Given the description of an element on the screen output the (x, y) to click on. 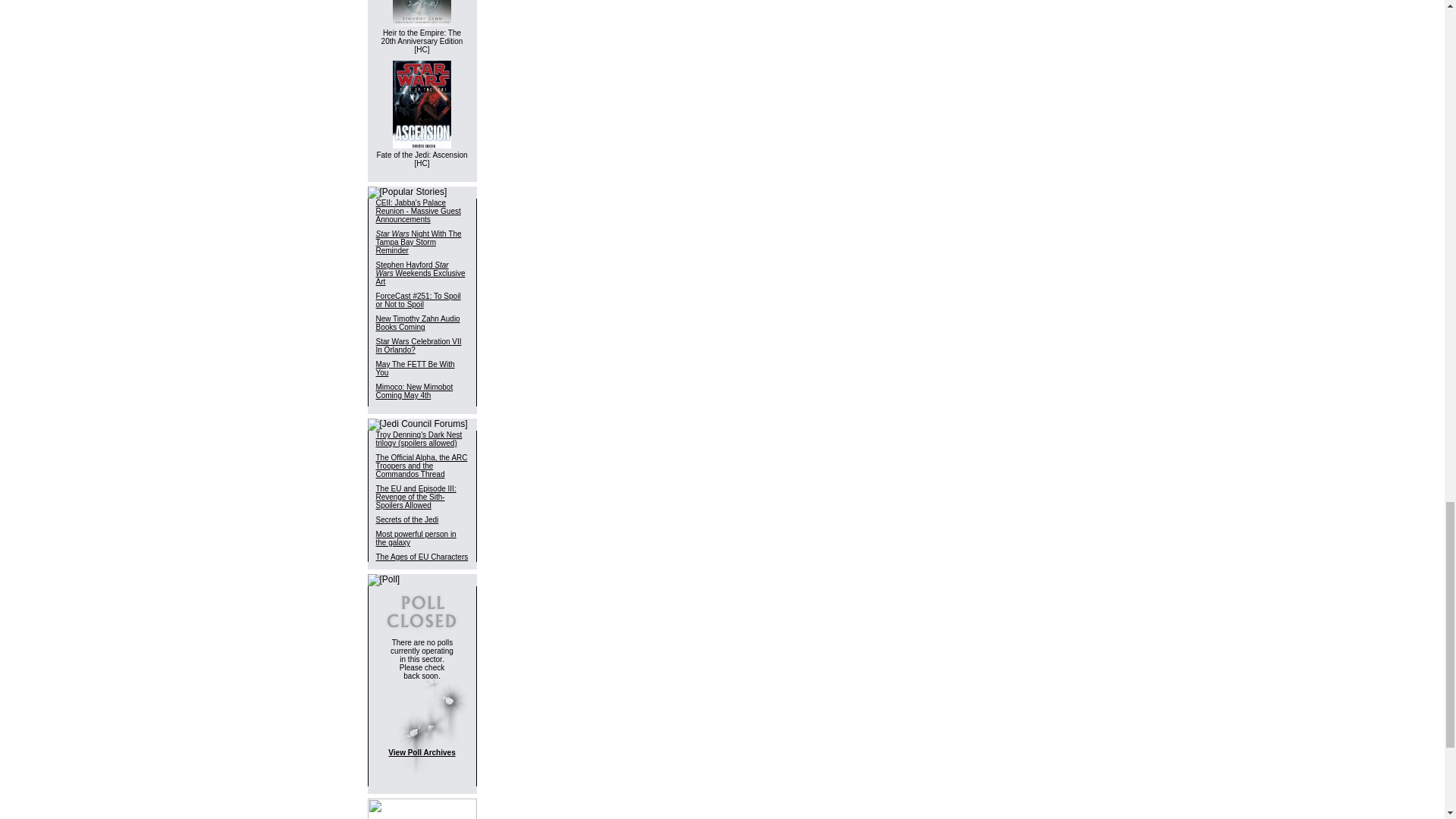
New Timothy Zahn Audio Books Coming (417, 322)
Secrets of the Jedi (407, 519)
Stephen Hayford Star Wars Weekends Exclusive Art (420, 273)
View Poll Archives (421, 752)
May The FETT Be With You (414, 368)
Mimoco: New Mimobot Coming May 4th (413, 391)
CEII: Jabba's Palace Reunion - Massive Guest Announcements (418, 211)
Most powerful person in the galaxy (416, 538)
Star Wars Night With The Tampa Bay Storm Reminder (418, 242)
Star Wars Celebration VII In Orlando? (418, 345)
The Ages of EU Characters (421, 556)
